Given the description of an element on the screen output the (x, y) to click on. 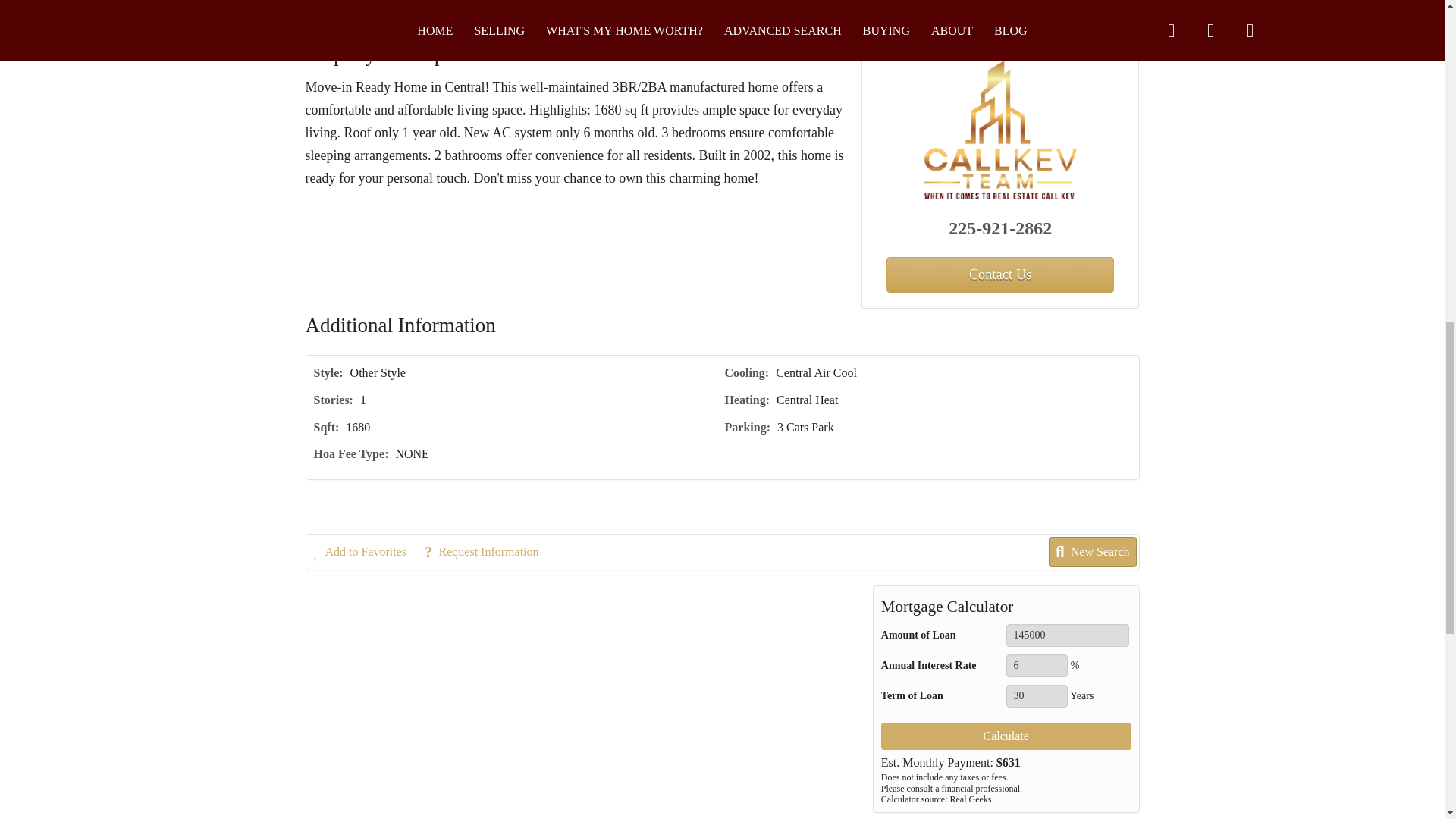
6 (1036, 665)
New Search (1094, 11)
Contact Us (354, 11)
Call Us (429, 11)
Share (587, 11)
View on Map (510, 11)
145000 (1067, 635)
Contact Us (999, 274)
225-921-2862 (1000, 227)
30 (1036, 695)
